Given the description of an element on the screen output the (x, y) to click on. 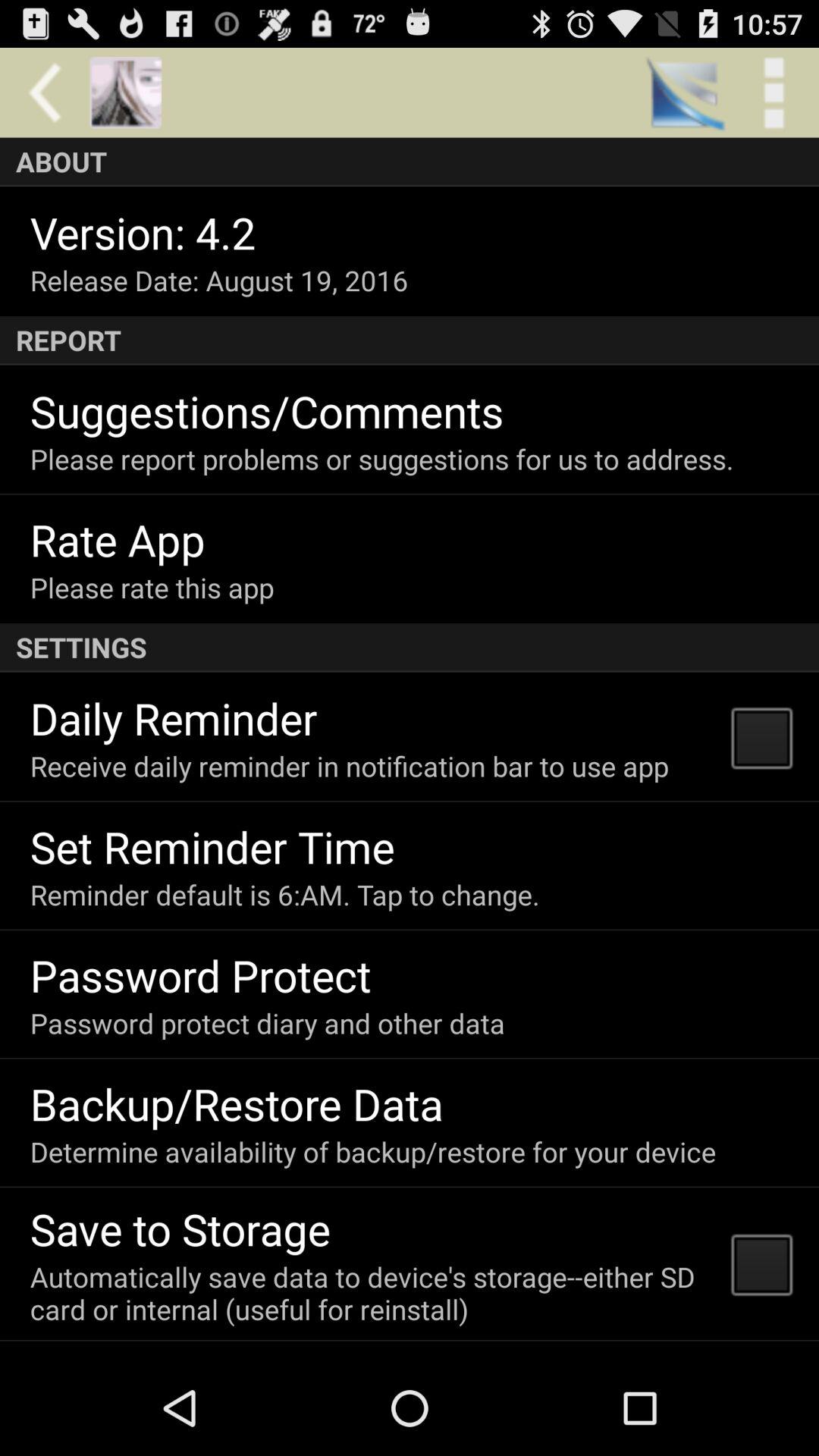
select item above about app (125, 92)
